Given the description of an element on the screen output the (x, y) to click on. 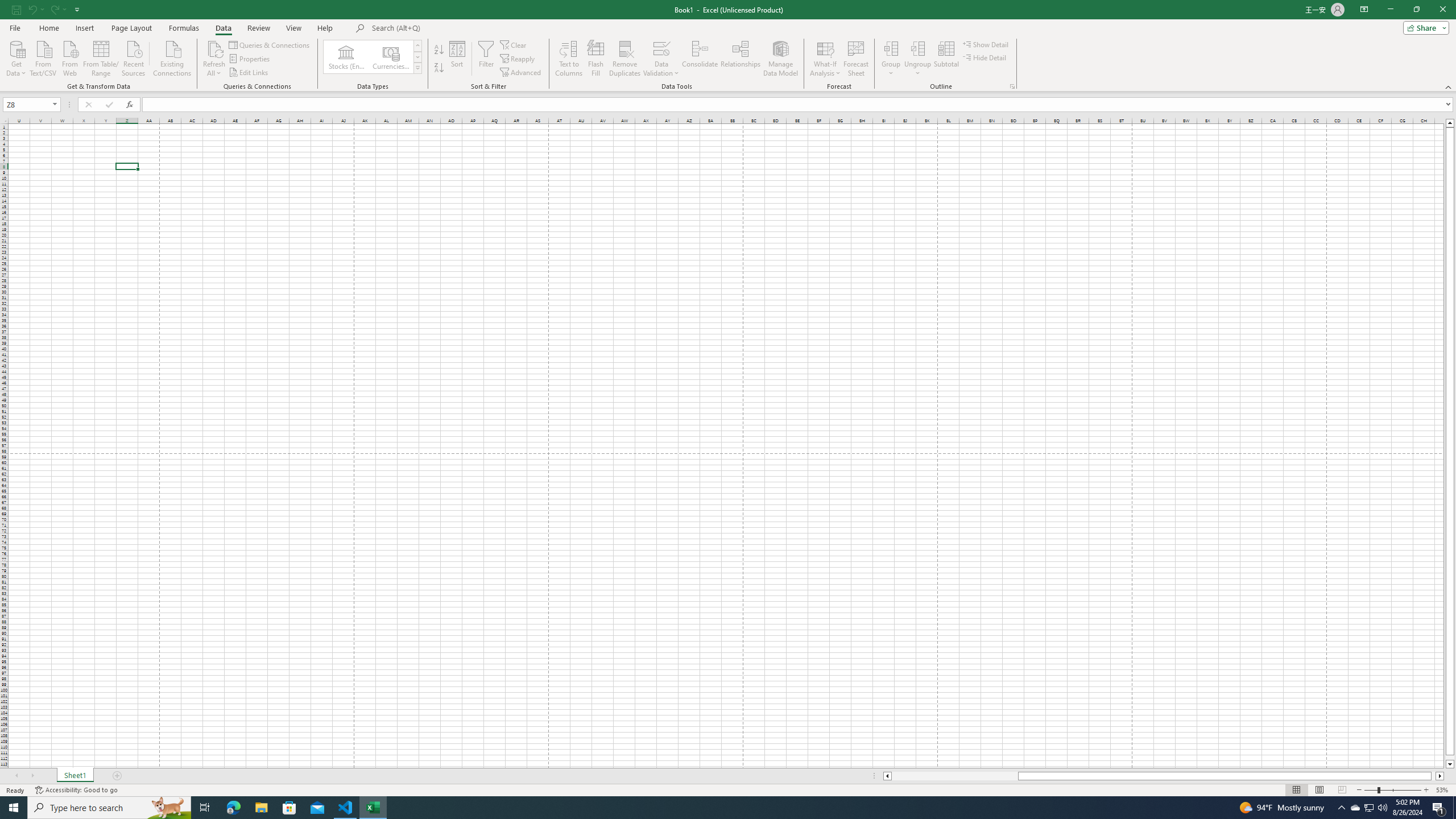
Close (1442, 9)
Row up (417, 45)
From Table/Range (100, 57)
Help (325, 28)
Page left (954, 775)
Consolidate... (700, 58)
More Options (917, 68)
Relationships (740, 58)
AutomationID: ConvertToLinkedEntity (372, 56)
Data Validation... (661, 58)
Sort Z to A (438, 67)
Existing Connections (171, 57)
Minimize (1390, 9)
Scroll Right (32, 775)
